Given the description of an element on the screen output the (x, y) to click on. 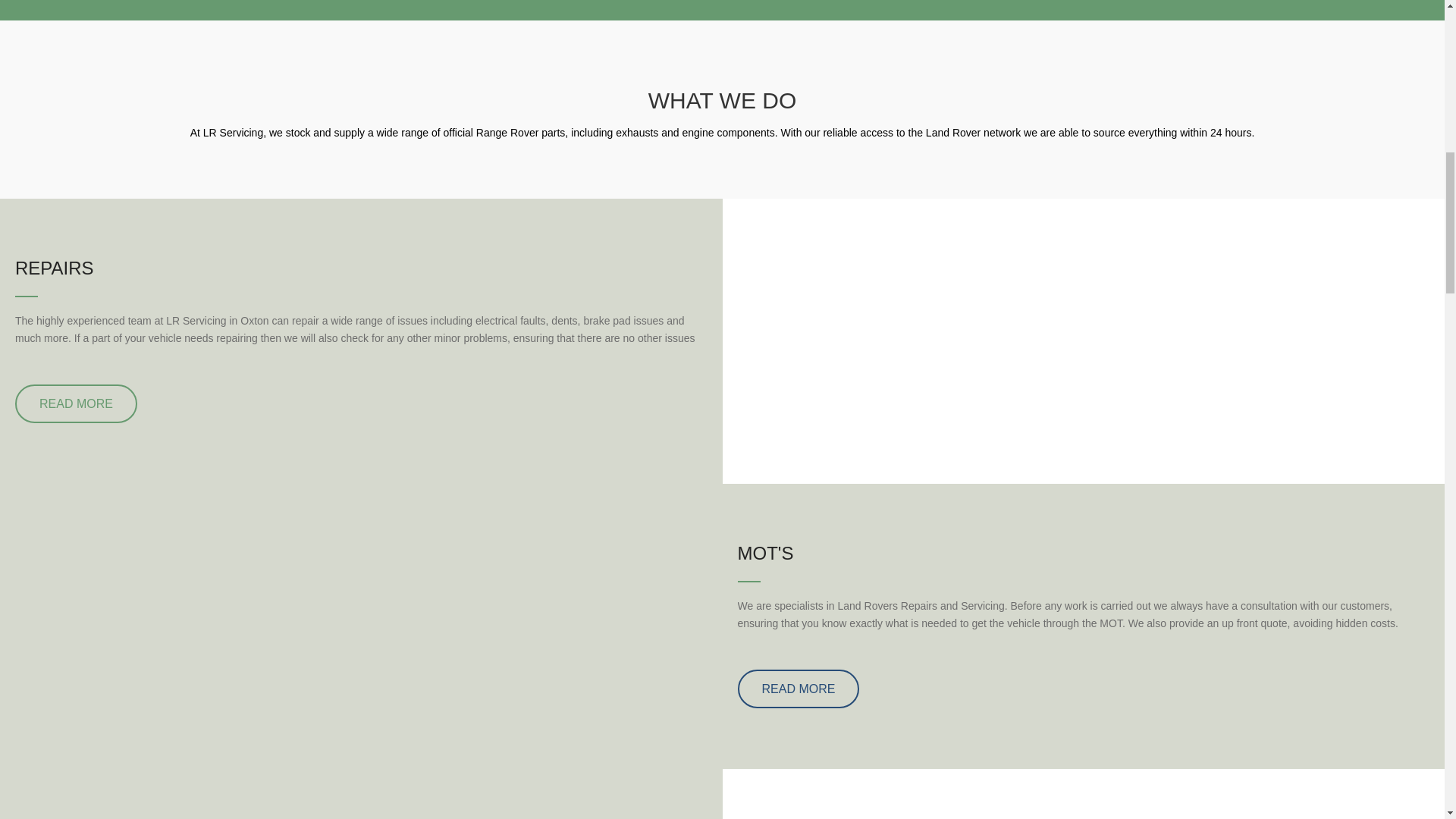
READ MORE (797, 688)
READ MORE (75, 403)
